Given the description of an element on the screen output the (x, y) to click on. 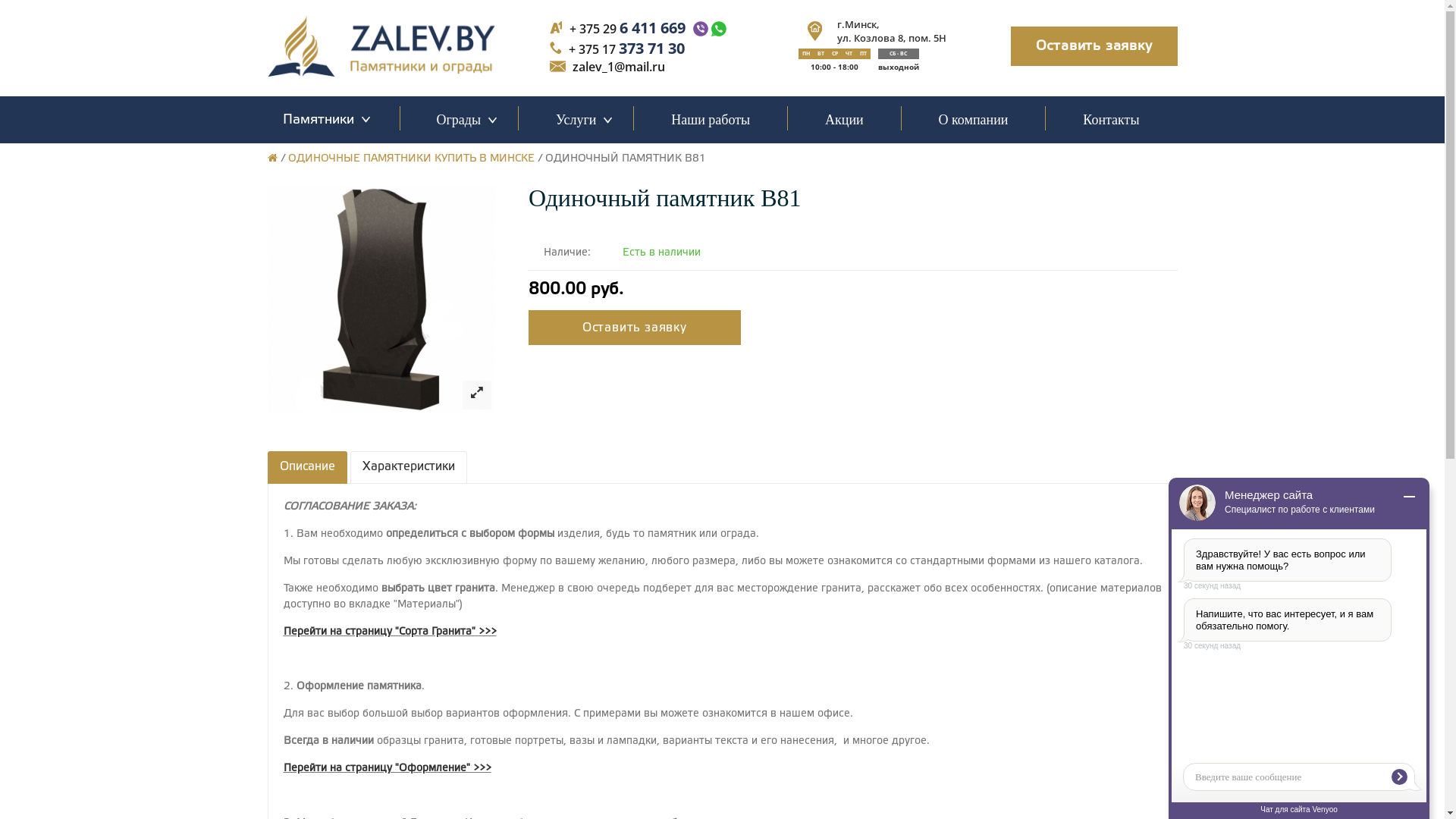
zalev_1@mail.ru Element type: text (618, 66)
+ 375 17 373 71 30 Element type: text (626, 47)
+ 375 29 6 411 669 Element type: text (627, 27)
>>> Element type: text (486, 632)
